Given the description of an element on the screen output the (x, y) to click on. 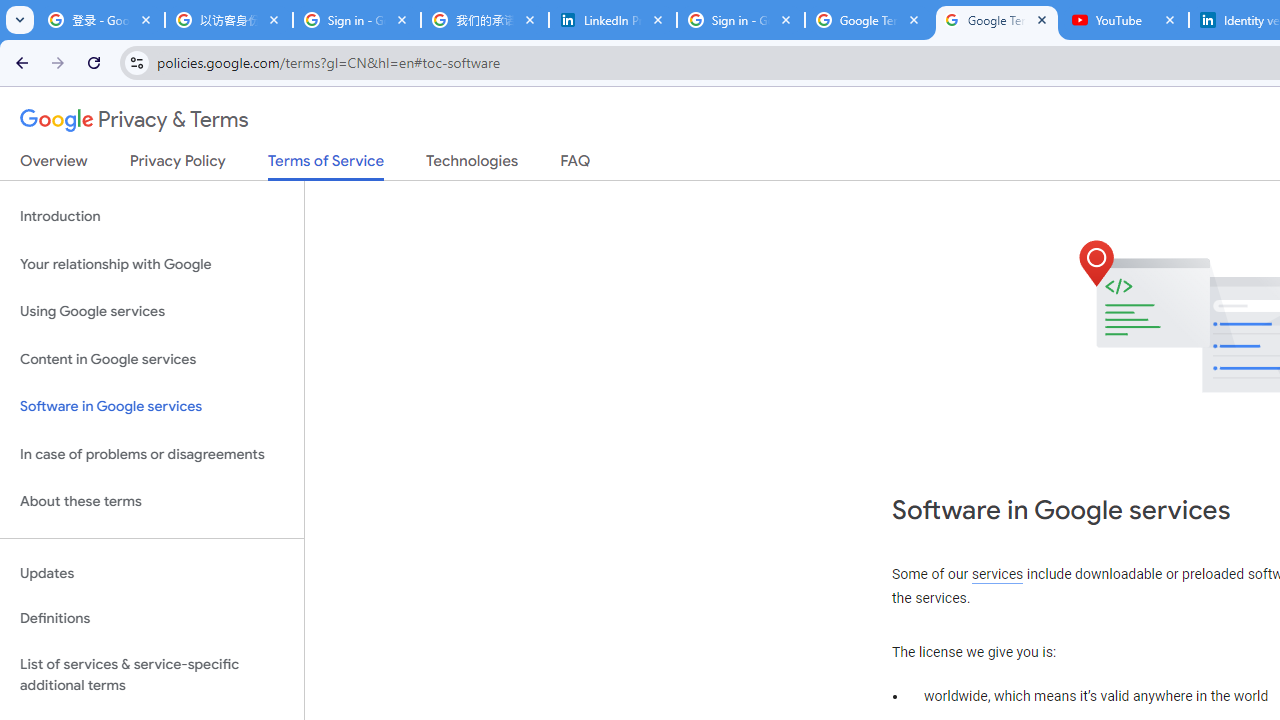
Sign in - Google Accounts (357, 20)
About these terms (152, 502)
Definitions (152, 619)
Software in Google services (152, 407)
Content in Google services (152, 358)
Overview (54, 165)
Your relationship with Google (152, 263)
